Given the description of an element on the screen output the (x, y) to click on. 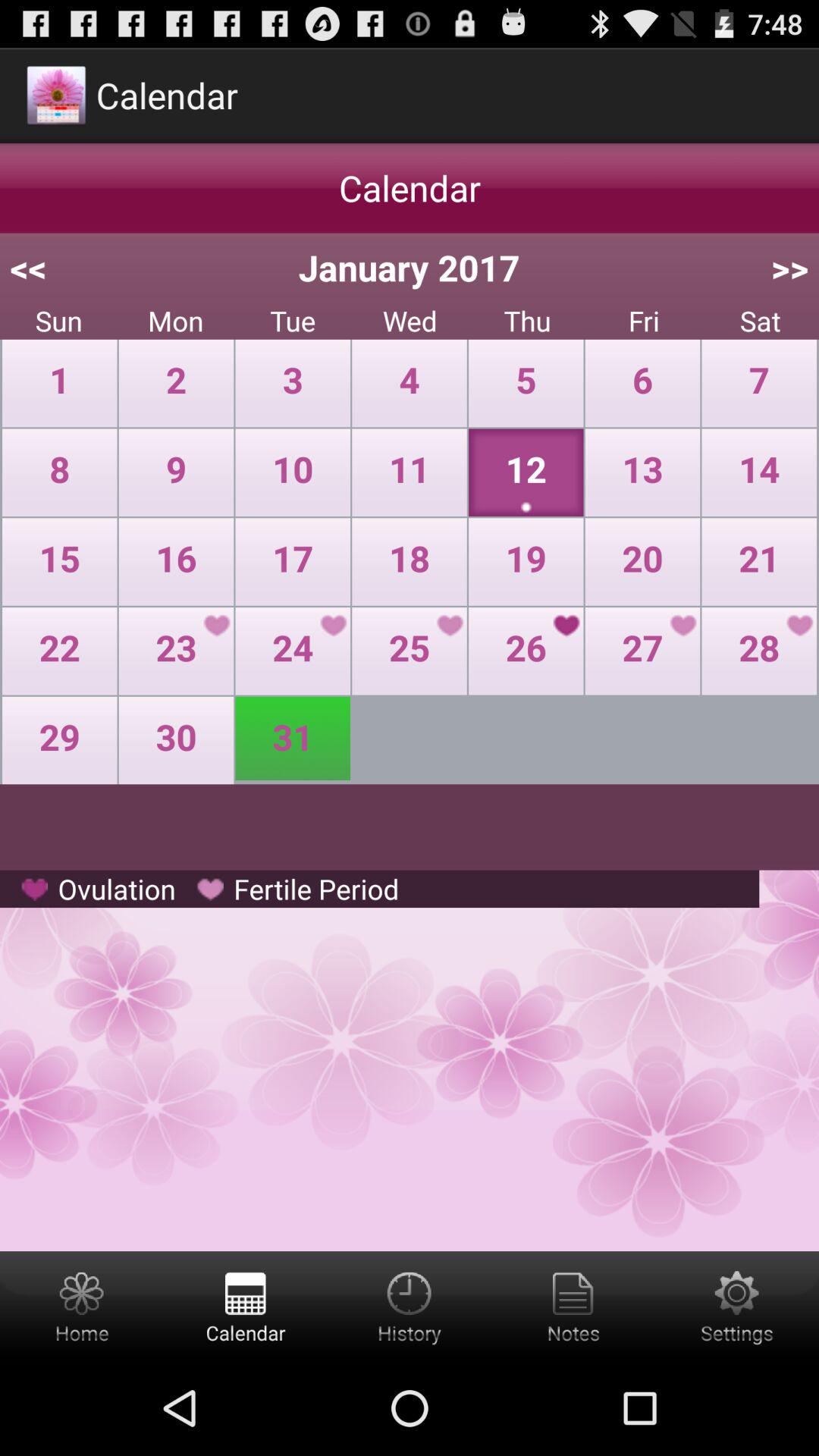
home option (81, 1305)
